Given the description of an element on the screen output the (x, y) to click on. 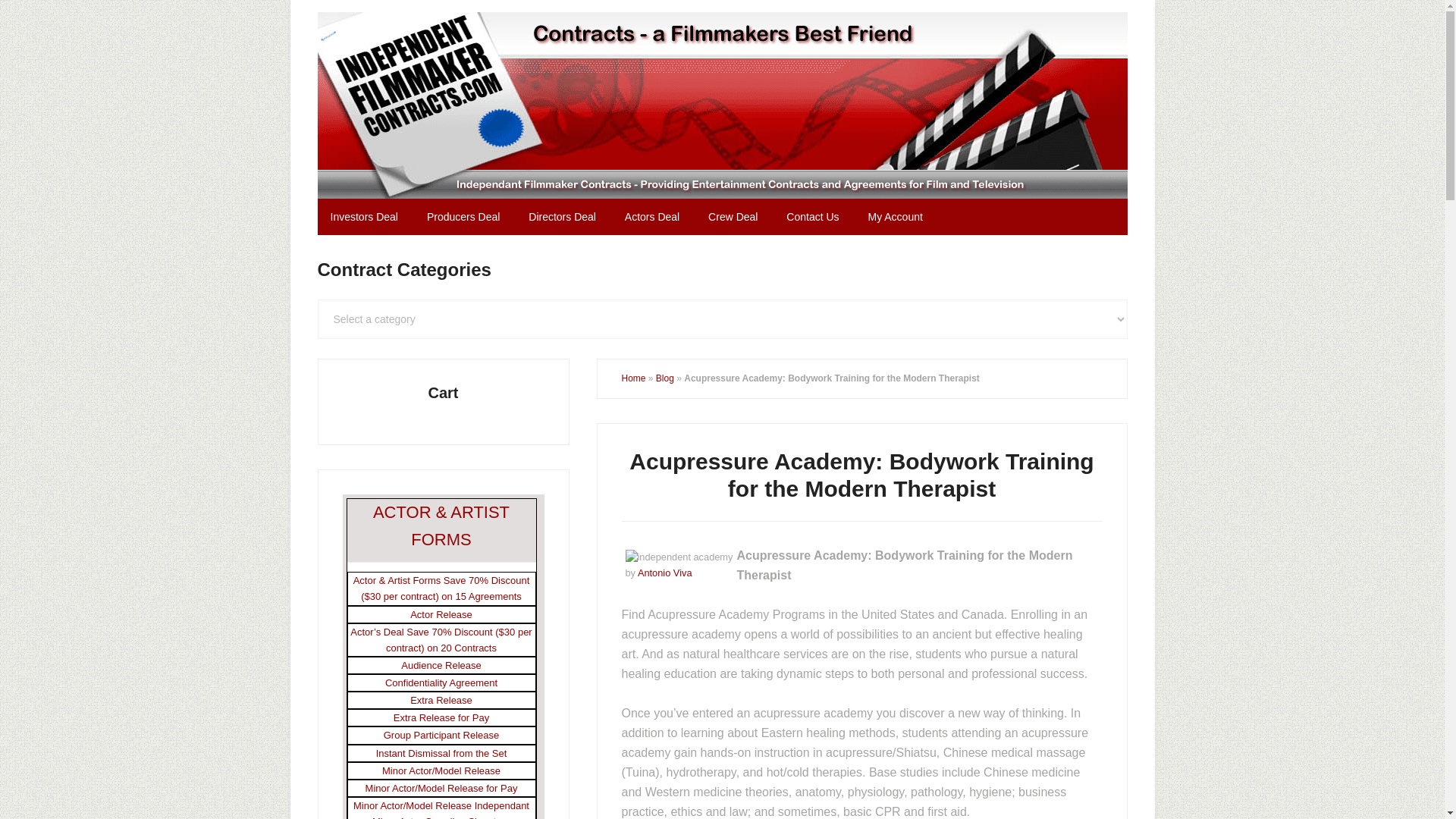
Crew Deal (732, 217)
Audience Release (441, 665)
Group Participant Release (441, 735)
Antonio Viva (665, 572)
Actor Release (440, 614)
Confidentiality Agreement (441, 682)
Blog (665, 378)
Contact Us (812, 217)
Investors Deal (363, 217)
